Given the description of an element on the screen output the (x, y) to click on. 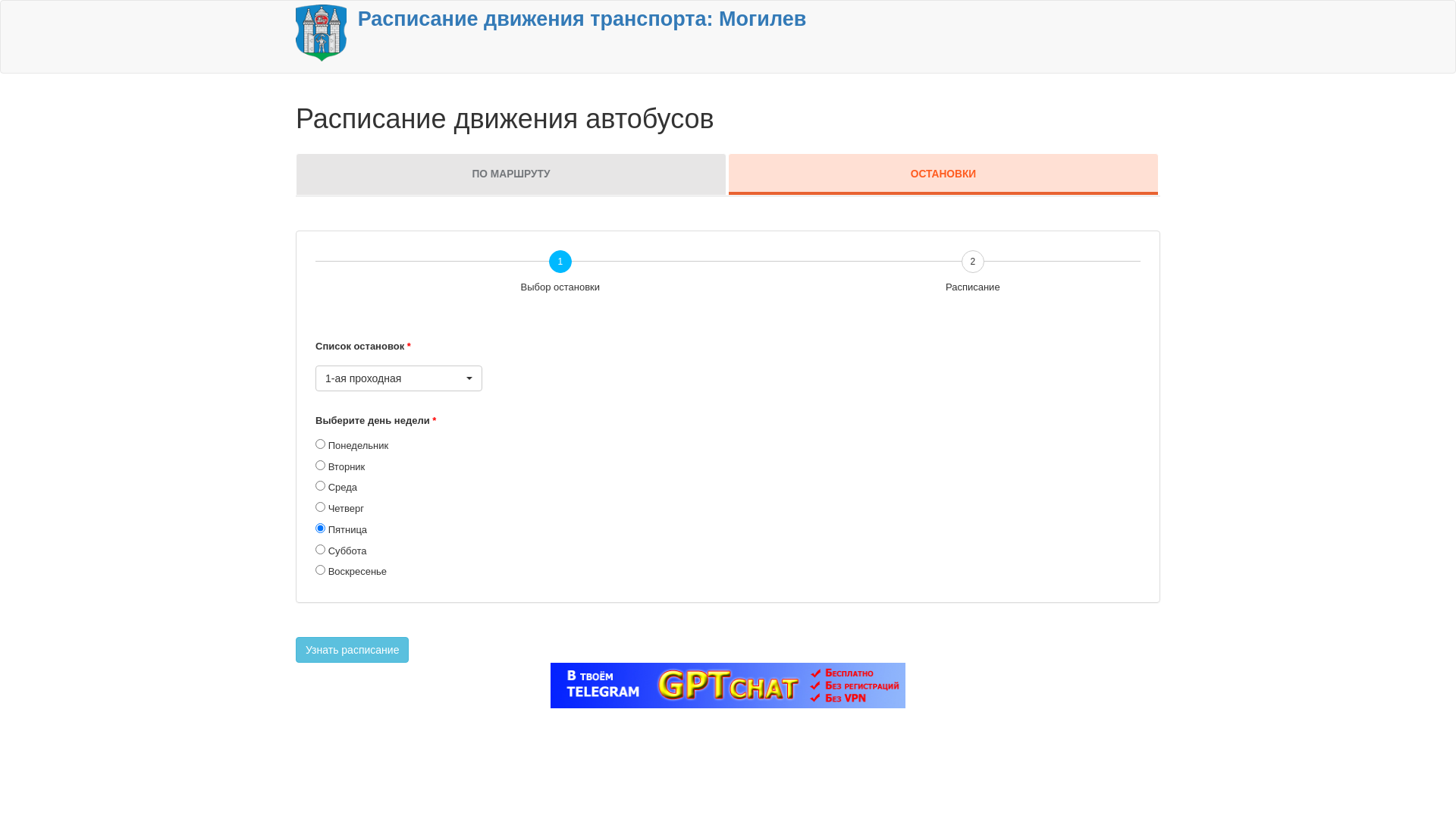
Home Element type: hover (320, 31)
